Given the description of an element on the screen output the (x, y) to click on. 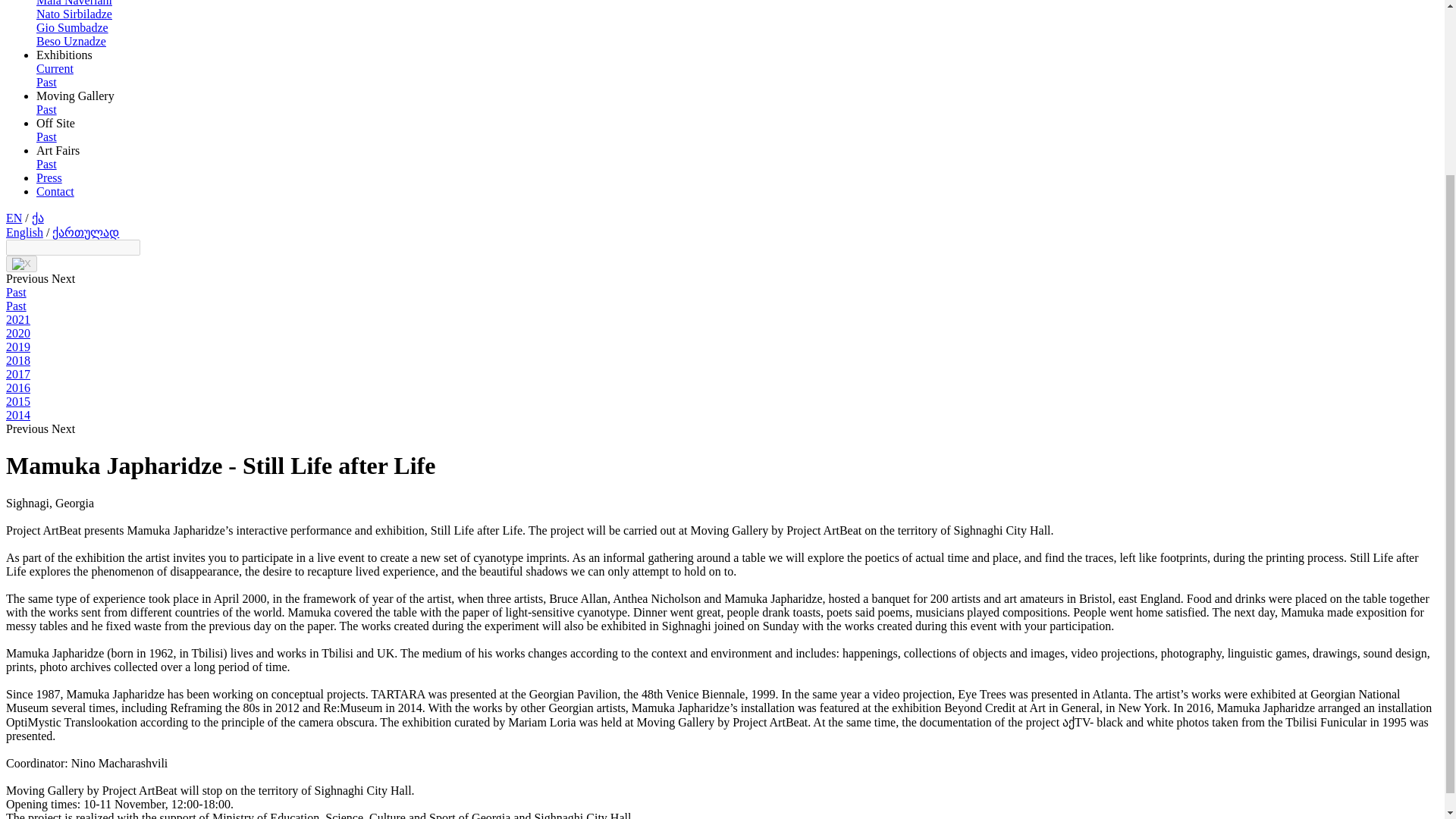
Current (55, 68)
Contact (55, 191)
Maia Naveriani (74, 3)
2019 (17, 346)
Past (46, 164)
2020 (17, 332)
Moving Gallery (75, 95)
Off Site (55, 123)
Past (46, 82)
Nato Sirbiladze (74, 13)
